Given the description of an element on the screen output the (x, y) to click on. 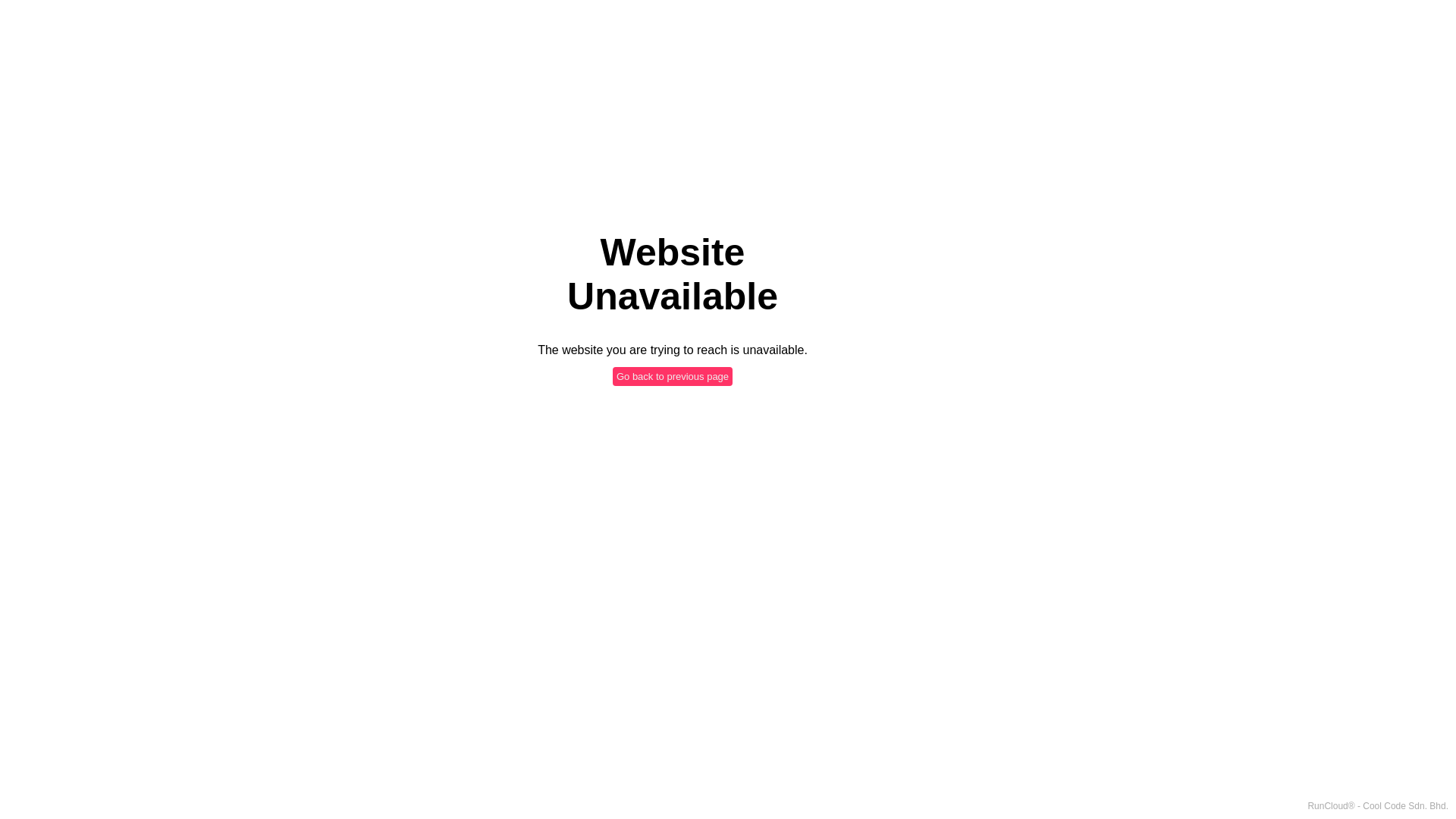
Go back to previous page Element type: text (672, 376)
